Given the description of an element on the screen output the (x, y) to click on. 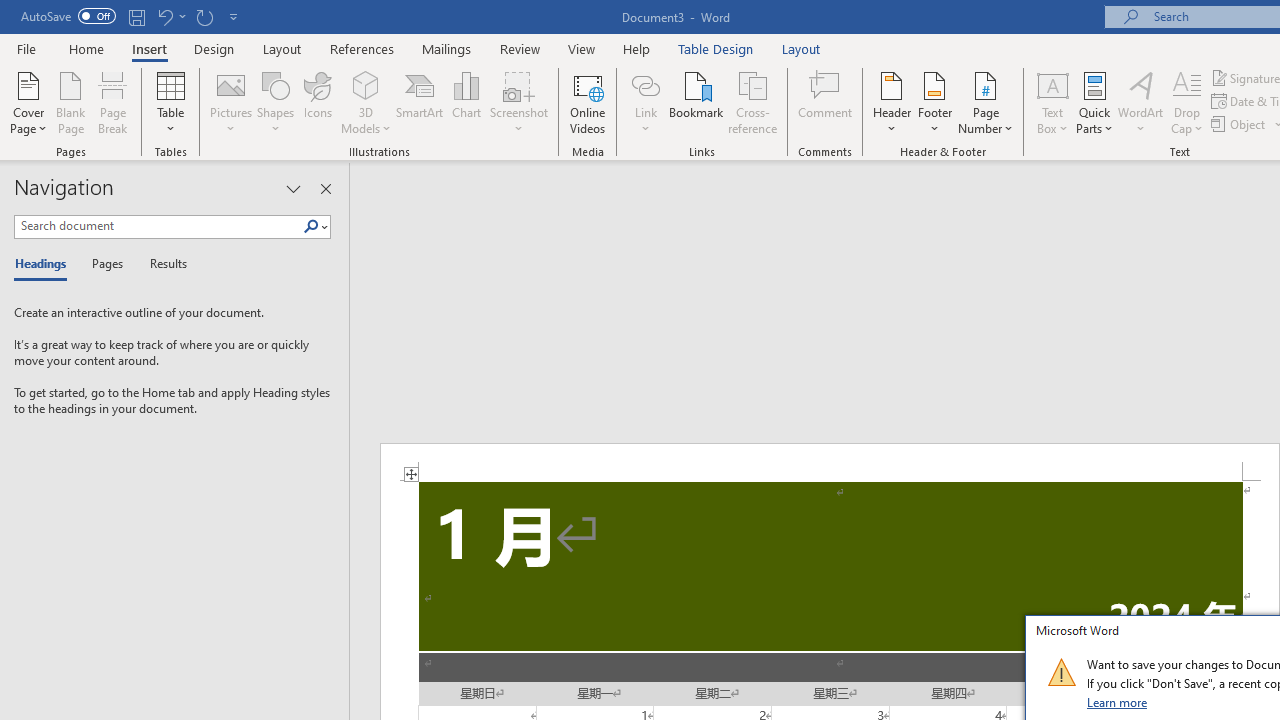
AutoSave (68, 16)
Chart... (466, 102)
Save (136, 15)
References (362, 48)
Class: NetUIImage (1061, 671)
Screenshot (518, 102)
Pages (105, 264)
Object... (1240, 124)
Link (645, 84)
3D Models (366, 84)
Close pane (325, 188)
Quick Access Toolbar (131, 16)
